Given the description of an element on the screen output the (x, y) to click on. 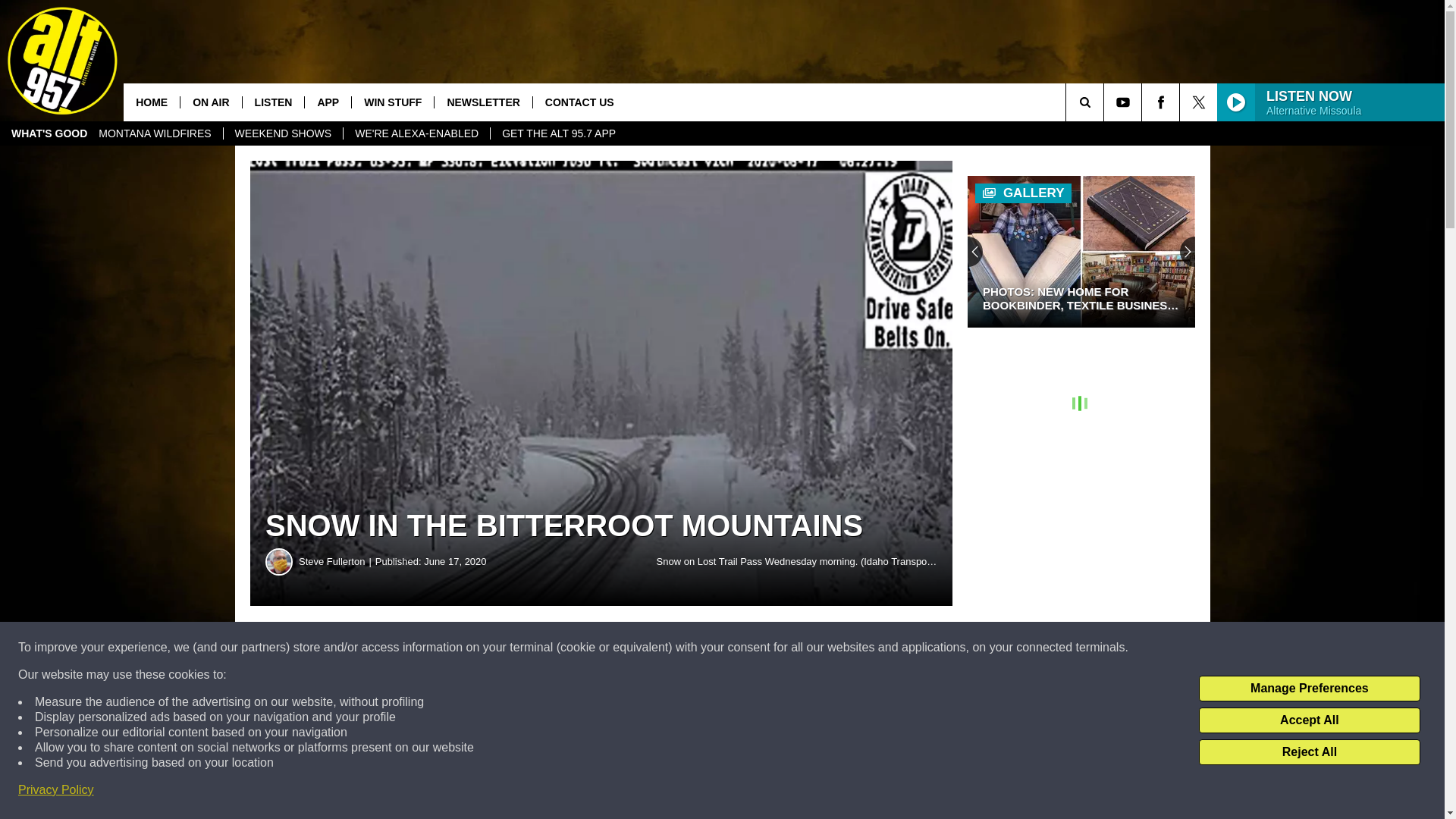
Manage Preferences (1309, 688)
SEARCH (1106, 102)
WIN STUFF (391, 102)
Share on Twitter (741, 647)
GET THE ALT 95.7 APP (558, 133)
NEWSLETTER (482, 102)
WEEKEND SHOWS (282, 133)
Reject All (1309, 751)
CONTACT US (579, 102)
Share on Facebook (460, 647)
LISTEN (272, 102)
APP (327, 102)
Privacy Policy (55, 789)
WE'RE ALEXA-ENABLED (415, 133)
HOME (151, 102)
